Given the description of an element on the screen output the (x, y) to click on. 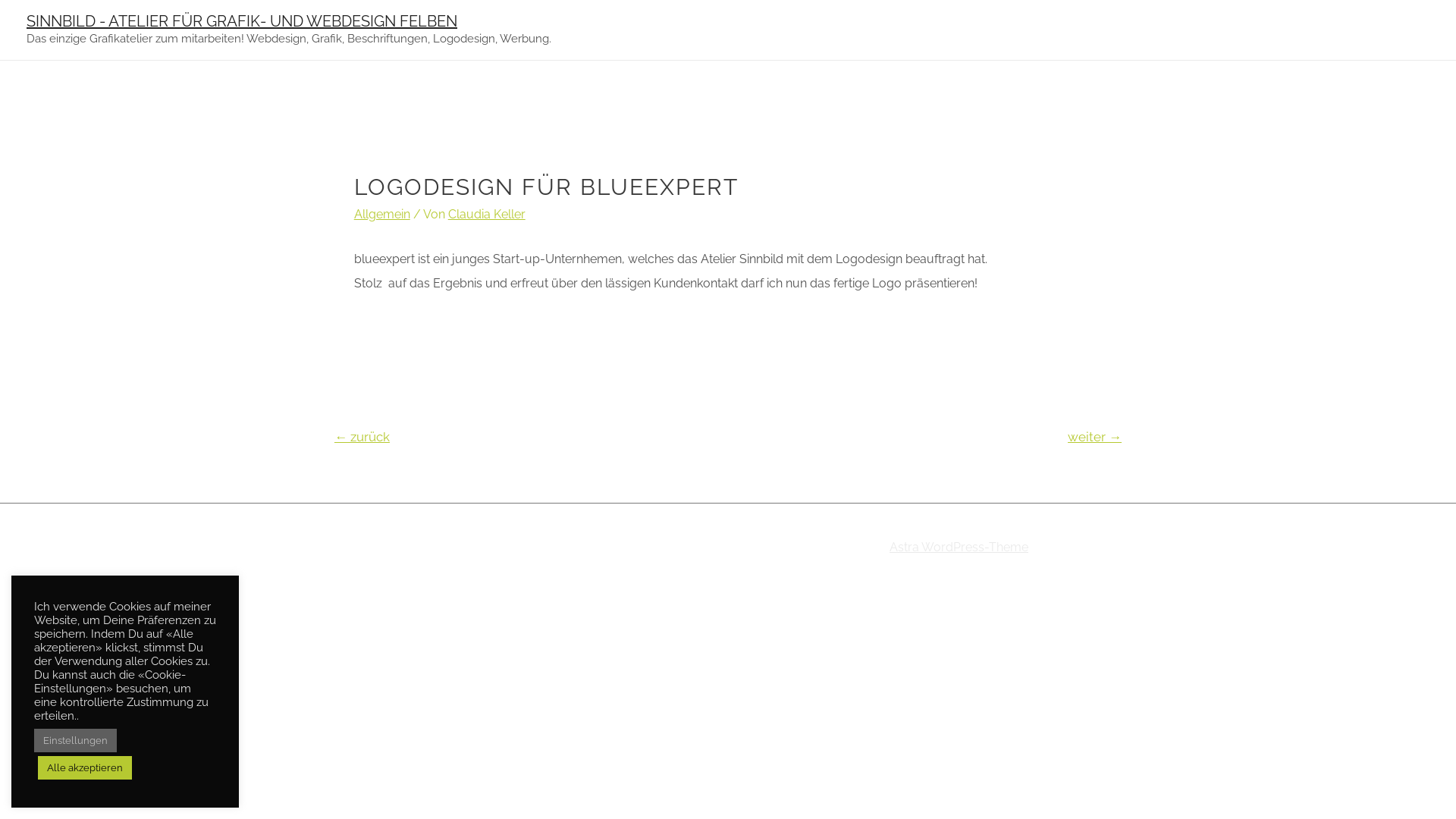
Astra WordPress-Theme Element type: text (958, 546)
Claudia Keller Element type: text (486, 214)
Einstellungen Element type: text (75, 740)
Allgemein Element type: text (382, 214)
Alle akzeptieren Element type: text (84, 767)
